Given the description of an element on the screen output the (x, y) to click on. 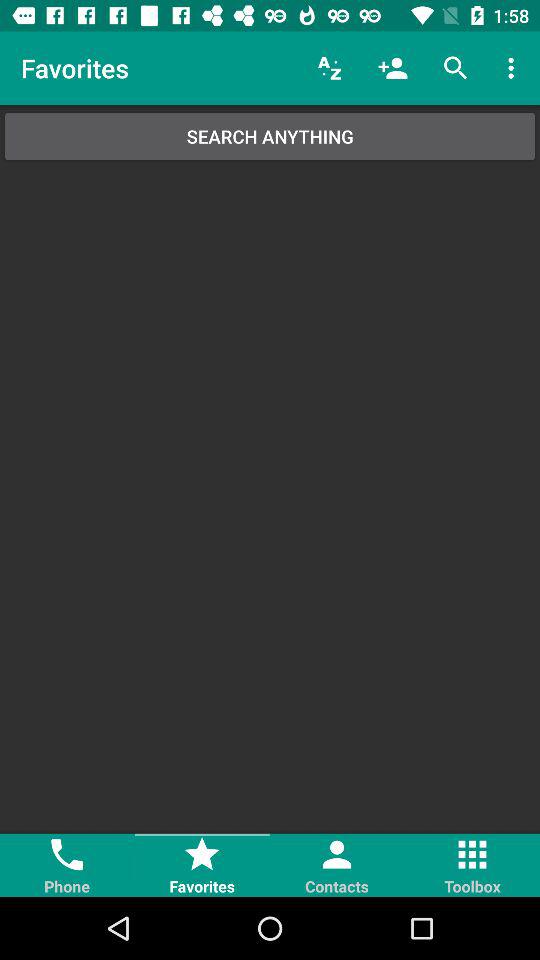
open the search anything (270, 136)
